Given the description of an element on the screen output the (x, y) to click on. 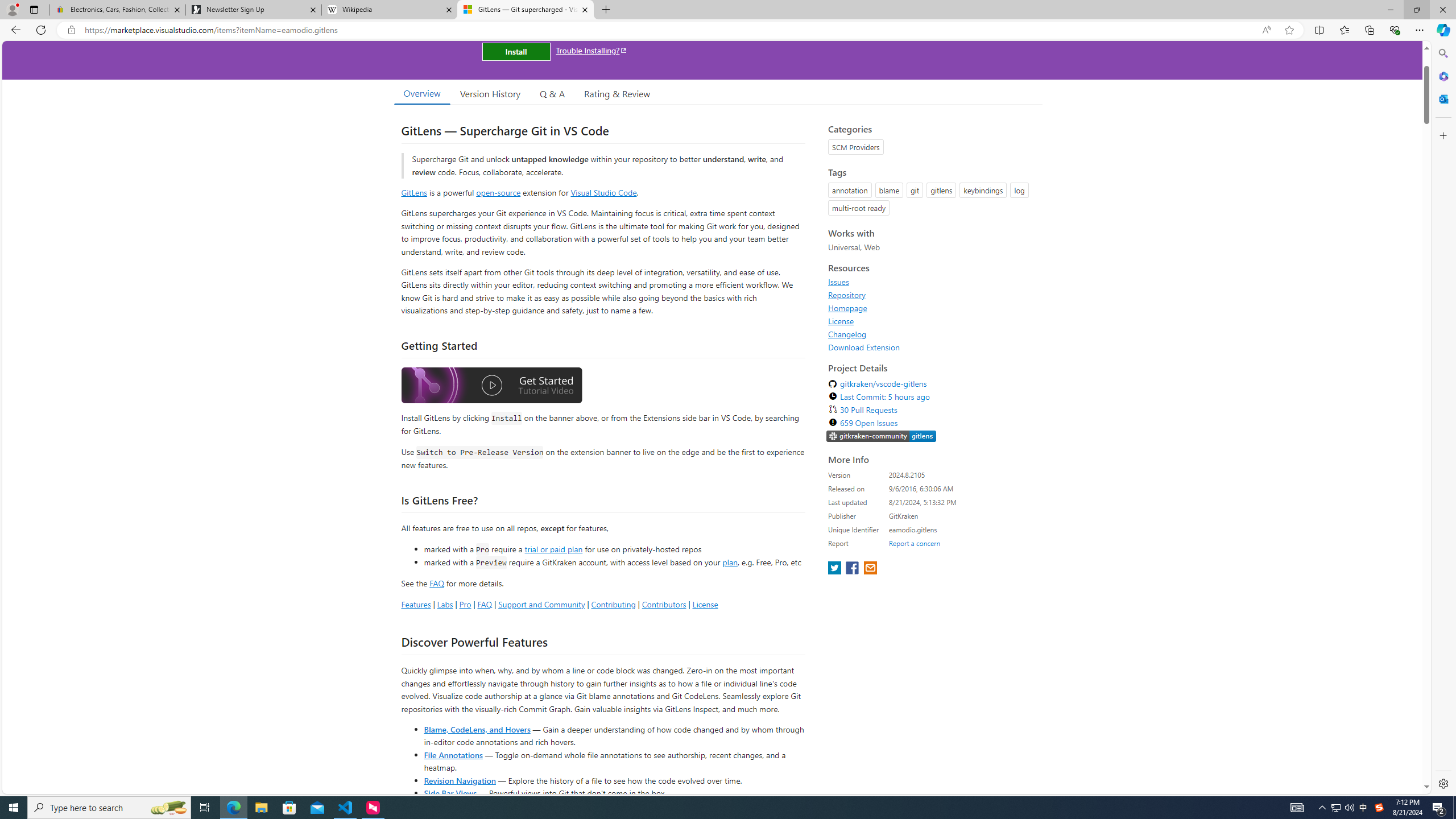
Report a concern (914, 542)
Download Extension (931, 346)
trial or paid plan (553, 548)
